Given the description of an element on the screen output the (x, y) to click on. 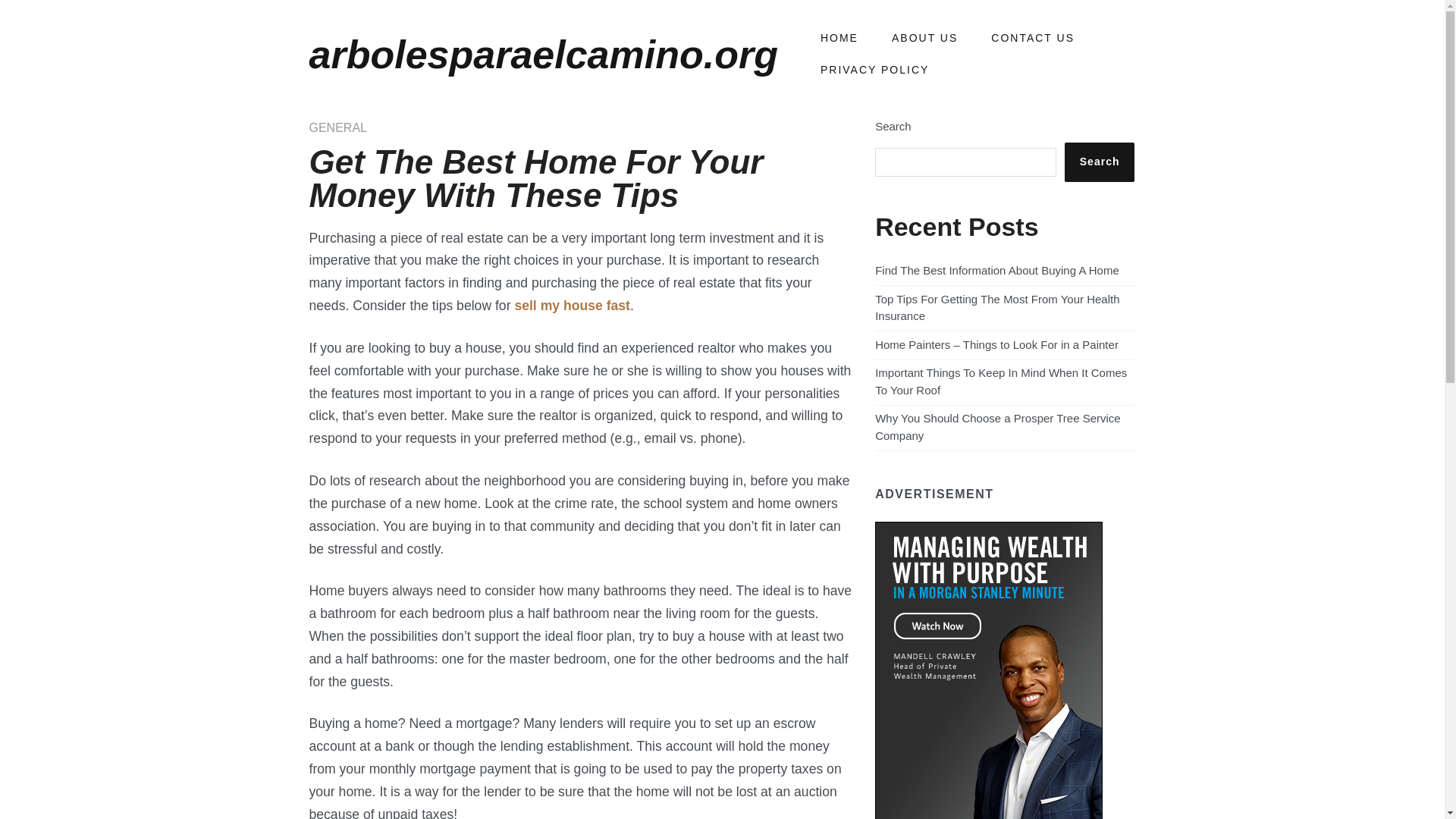
CONTACT US (1032, 38)
Search (1099, 161)
Why You Should Choose a Prosper Tree Service Company (998, 426)
Important Things To Keep In Mind When It Comes To Your Roof (1000, 381)
PRIVACY POLICY (875, 70)
ABOUT US (925, 38)
sell my house fast (571, 305)
Top Tips For Getting The Most From Your Health Insurance (997, 307)
HOME (839, 38)
Find The Best Information About Buying A Home (997, 269)
GENERAL (337, 127)
arbolesparaelcamino.org (542, 54)
